Given the description of an element on the screen output the (x, y) to click on. 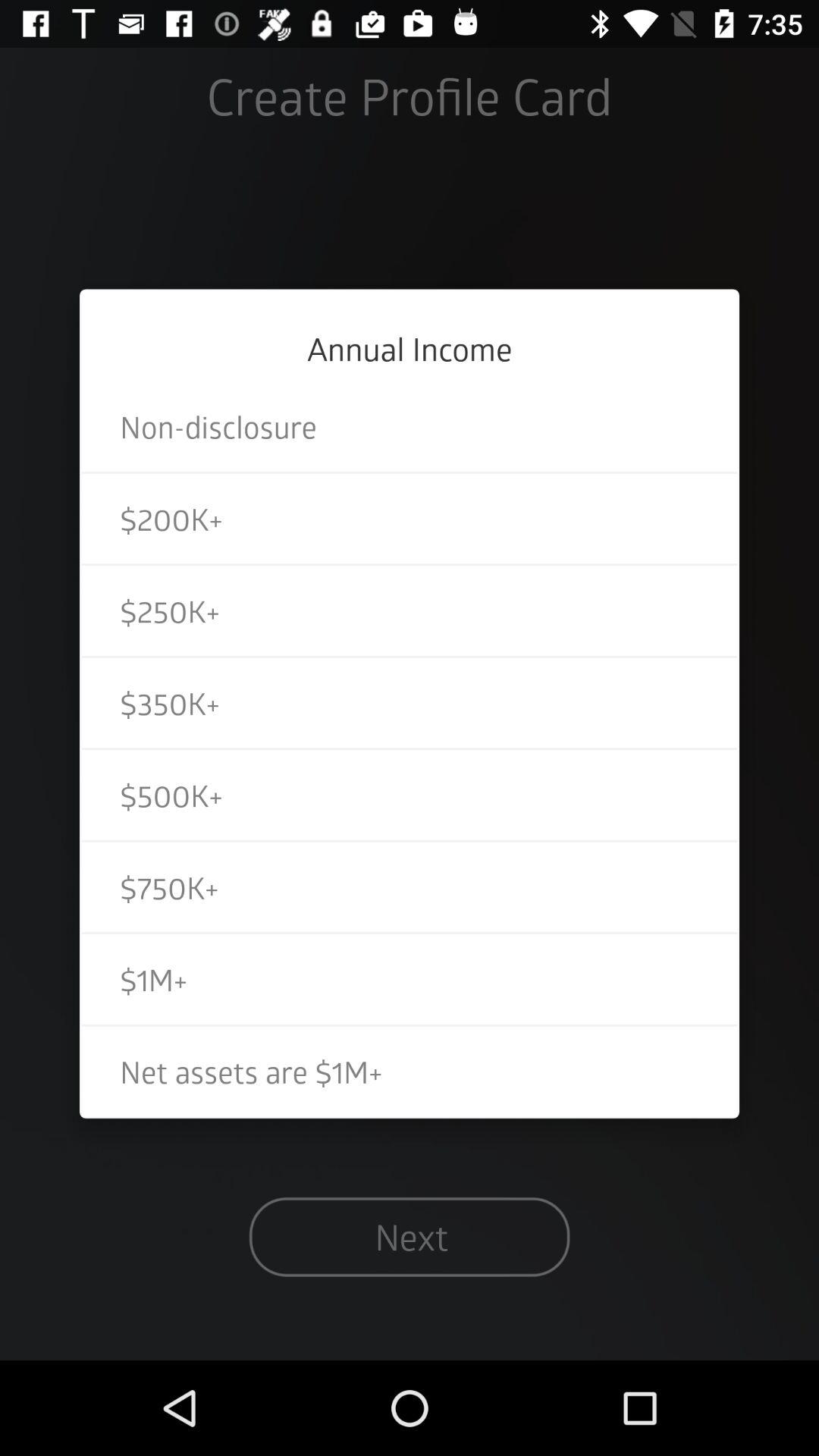
turn on icon above $500k+ (409, 702)
